Given the description of an element on the screen output the (x, y) to click on. 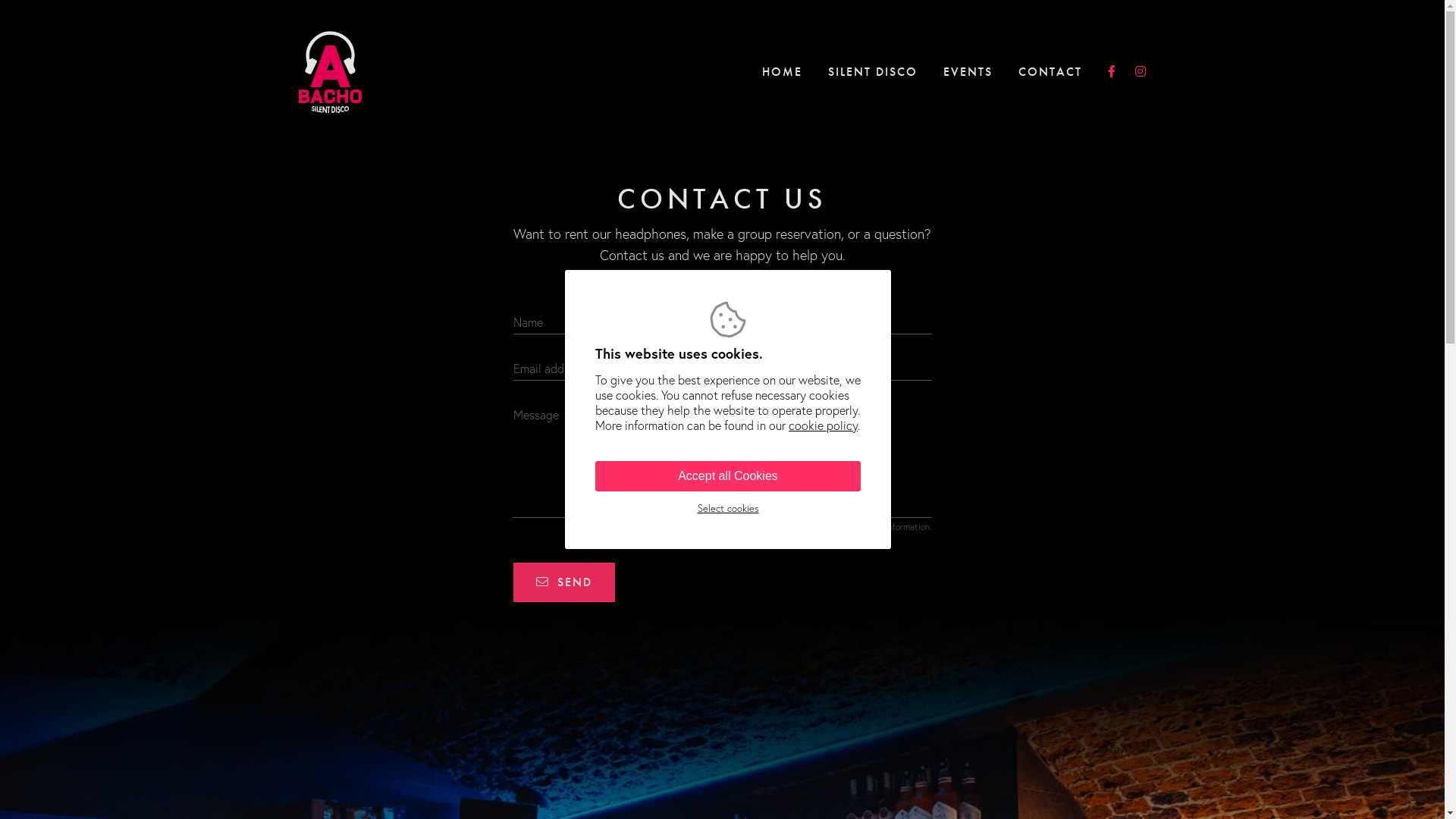
cookie policy Element type: text (822, 425)
SILENT DISCO Element type: text (872, 71)
EVENTS Element type: text (967, 71)
CONTACT Element type: text (1049, 71)
SEND Element type: text (563, 582)
Accept all Cookies Element type: text (727, 476)
HOME Element type: text (781, 71)
